Given the description of an element on the screen output the (x, y) to click on. 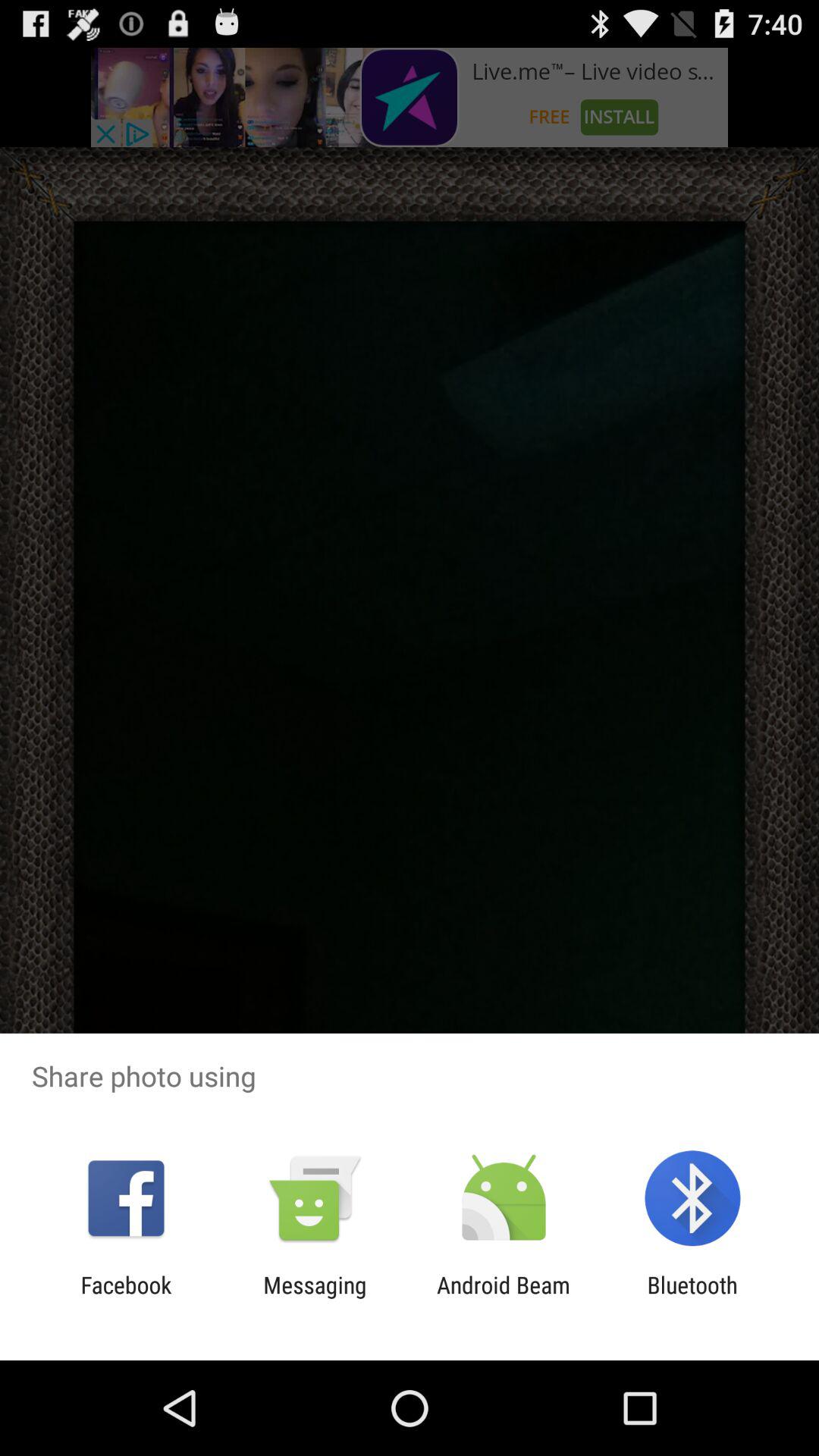
launch the item to the left of messaging icon (125, 1298)
